Given the description of an element on the screen output the (x, y) to click on. 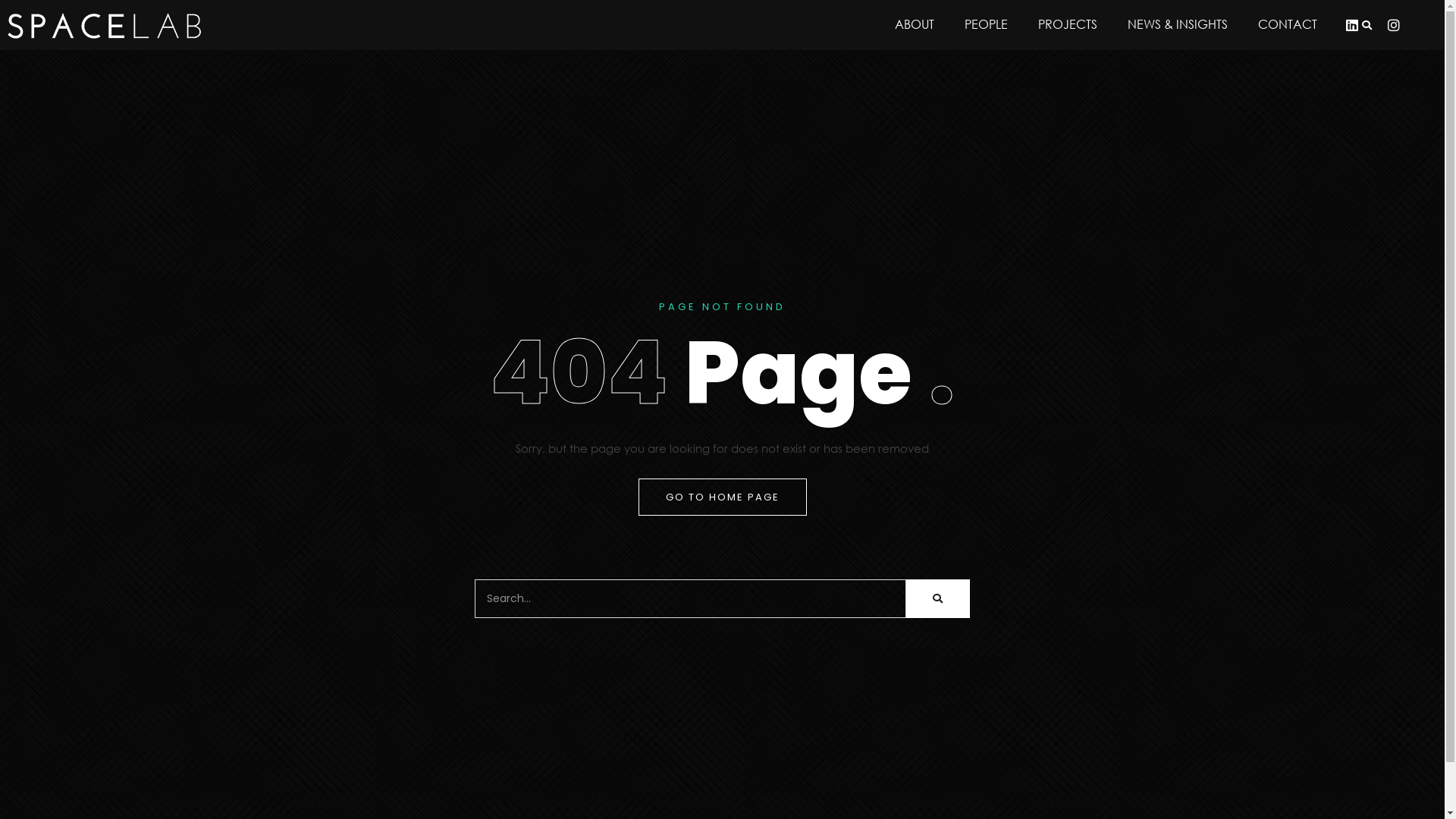
GO TO HOME PAGE Element type: text (722, 496)
PEOPLE Element type: text (985, 24)
CONTACT Element type: text (1287, 24)
NEWS & INSIGHTS Element type: text (1177, 24)
PROJECTS Element type: text (1067, 24)
ABOUT Element type: text (914, 24)
